Given the description of an element on the screen output the (x, y) to click on. 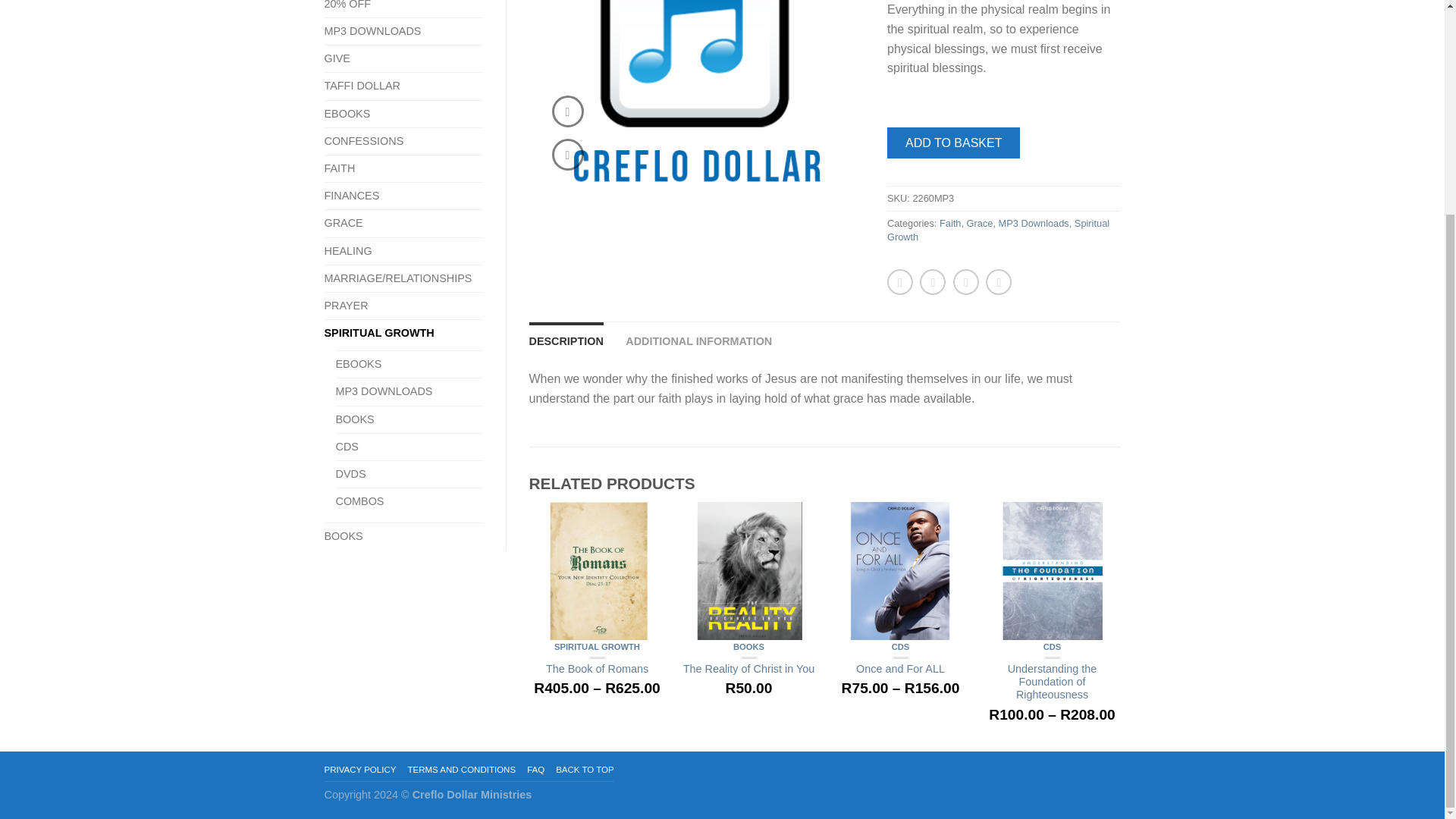
MP3 DOWNLOADS (378, 31)
TAFFI DOLLAR (368, 85)
GIVE (342, 58)
